Given the description of an element on the screen output the (x, y) to click on. 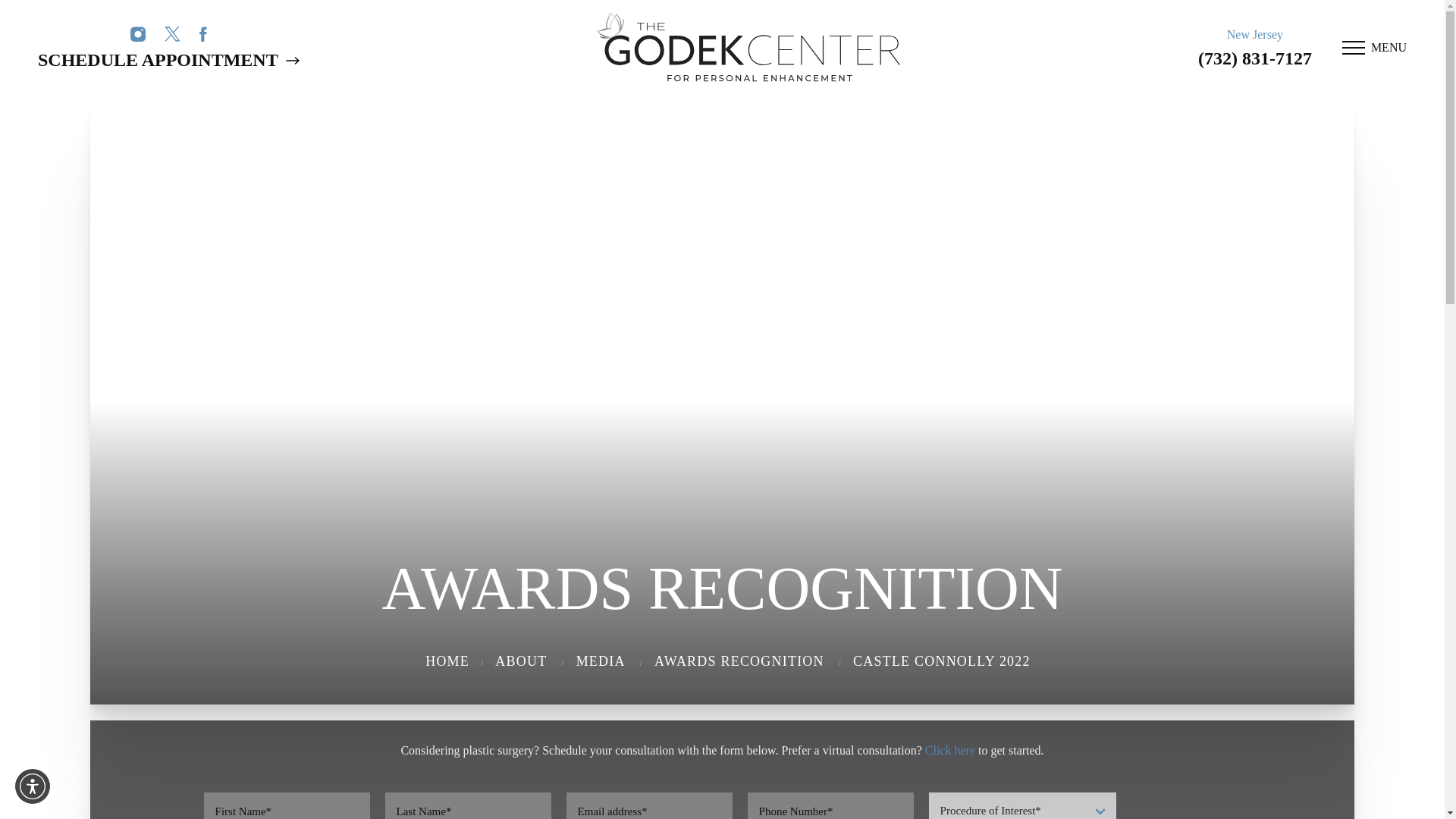
Follow The Godek Center for Personal Enhancement on X (172, 33)
SCHEDULE APPOINTMENT (168, 60)
